Given the description of an element on the screen output the (x, y) to click on. 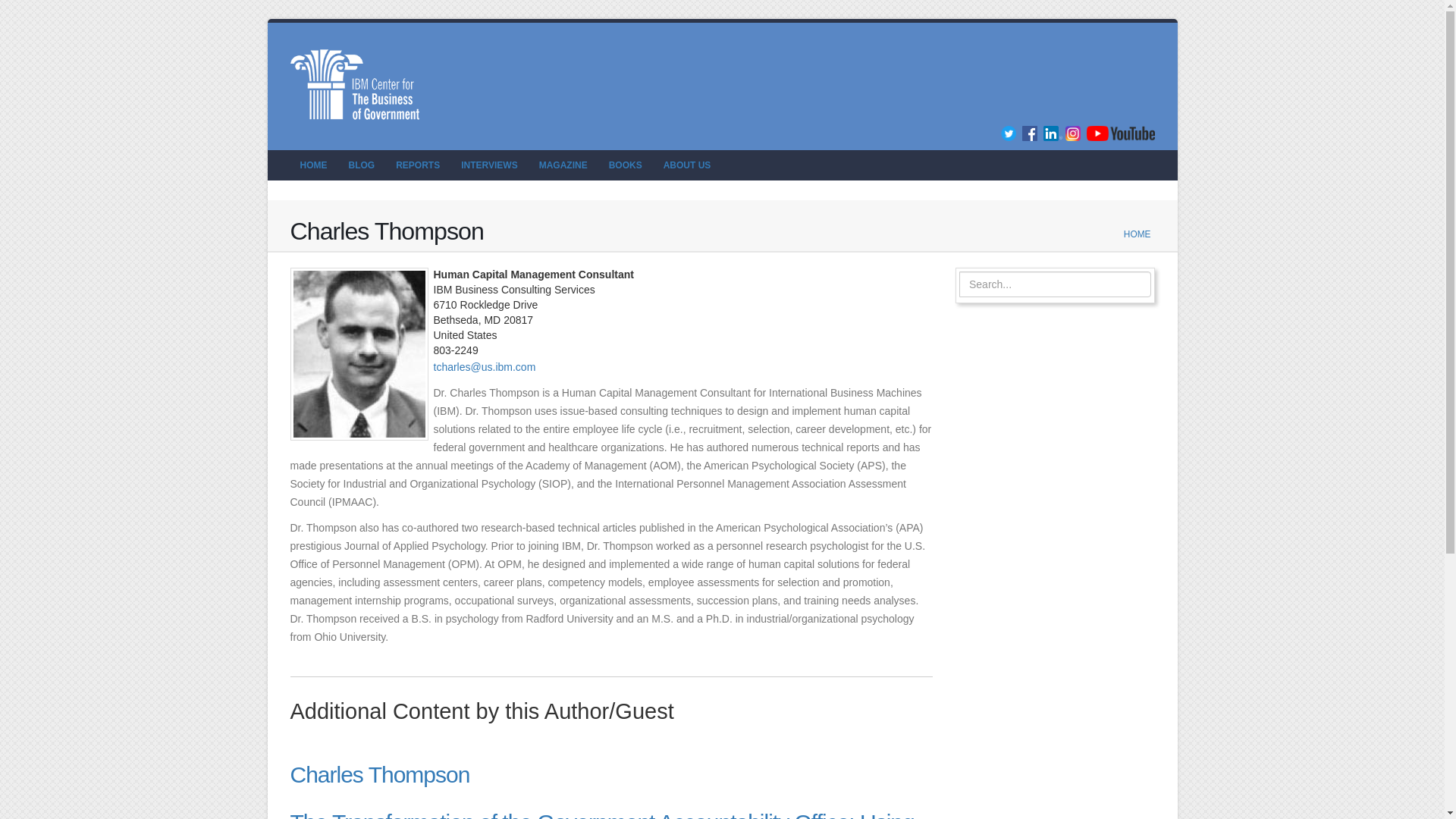
MAGAZINE (562, 164)
BLOG (360, 164)
INTERVIEWS (489, 164)
Enter the terms you wish to search for. (1055, 284)
HOME (312, 164)
ABOUT US (686, 164)
REPORTS (417, 164)
Charles Thompson (378, 774)
HOME (1137, 234)
